Given the description of an element on the screen output the (x, y) to click on. 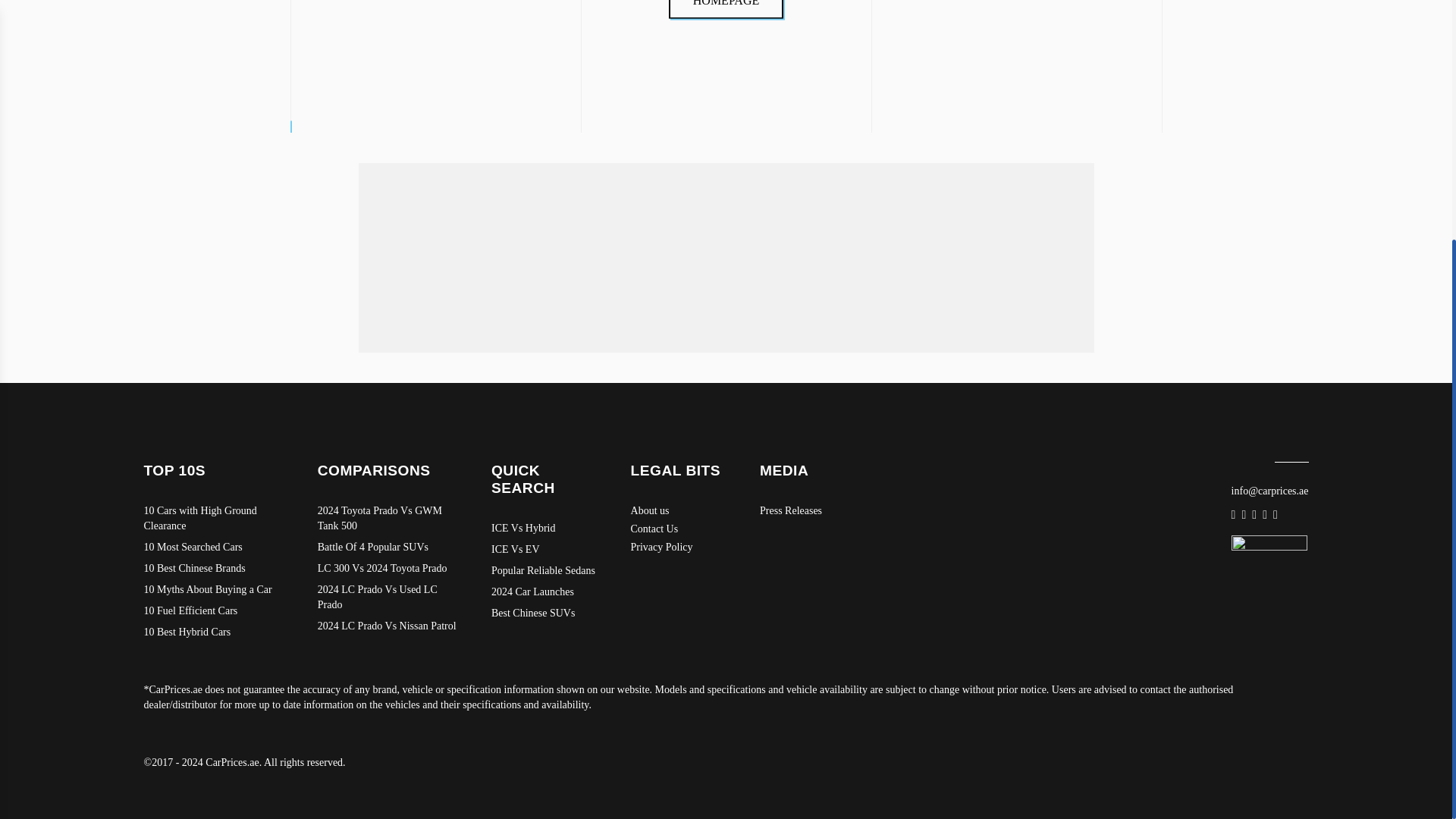
2024 LC Prado Vs Used LC Prado (389, 597)
Best Chinese SUVs (545, 613)
Privacy Policy (680, 547)
10 Myths About Buying a Car (215, 589)
2024 LC Prado Vs Nissan Patrol (389, 626)
2024 Toyota Prado Vs GWM Tank 500 (389, 518)
HOMEPAGE (725, 8)
ICE Vs EV (545, 549)
10 Best Chinese Brands (215, 568)
Contact Us (680, 529)
10 Cars with High Ground Clearance (215, 518)
10 Fuel Efficient Cars (215, 611)
Battle Of 4 Popular SUVs (389, 547)
About us (680, 510)
LC 300 Vs 2024 Toyota Prado (389, 568)
